Given the description of an element on the screen output the (x, y) to click on. 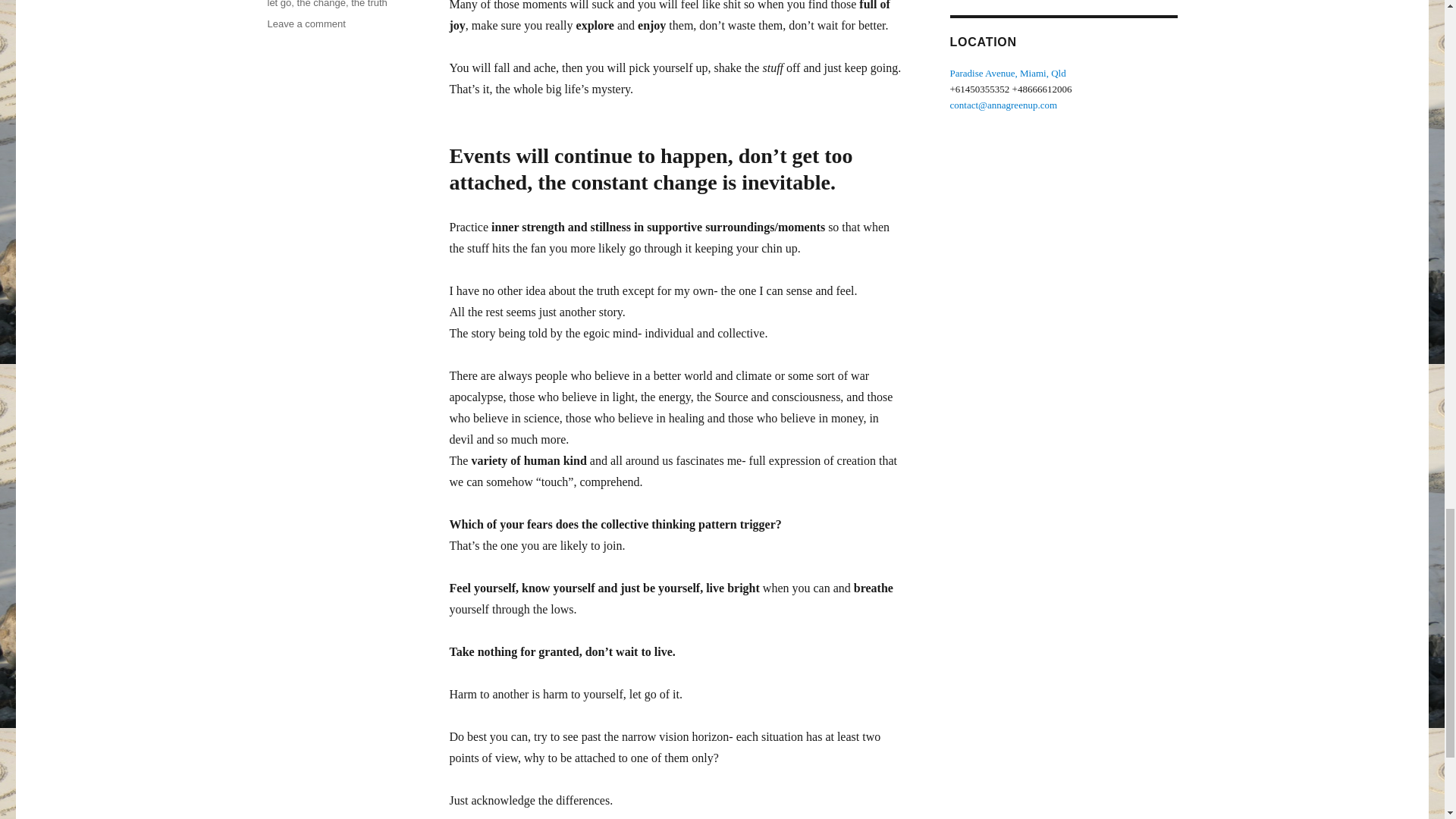
the truth (368, 4)
let go (278, 4)
the change (321, 4)
